Given the description of an element on the screen output the (x, y) to click on. 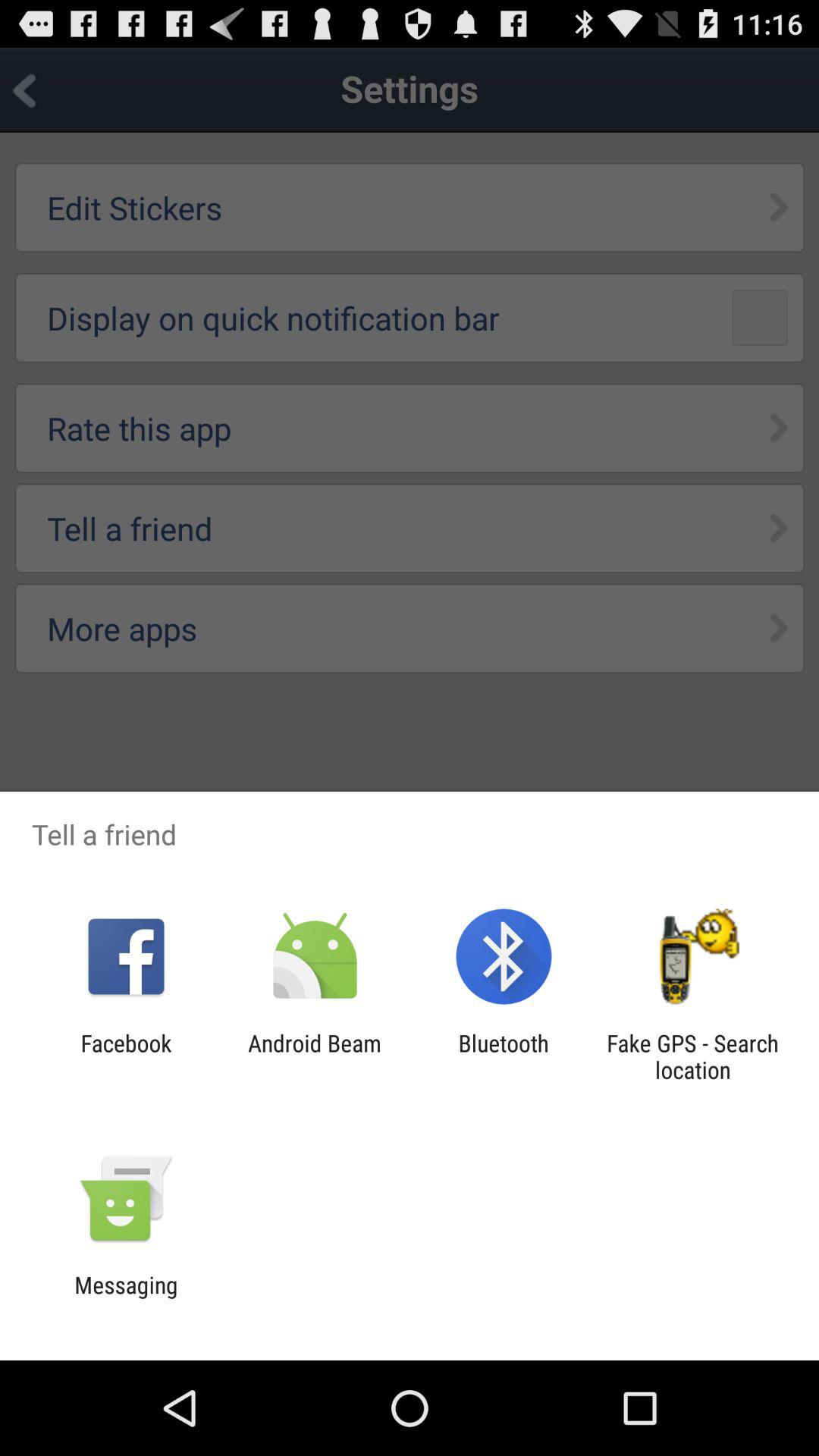
press app next to android beam item (125, 1056)
